Given the description of an element on the screen output the (x, y) to click on. 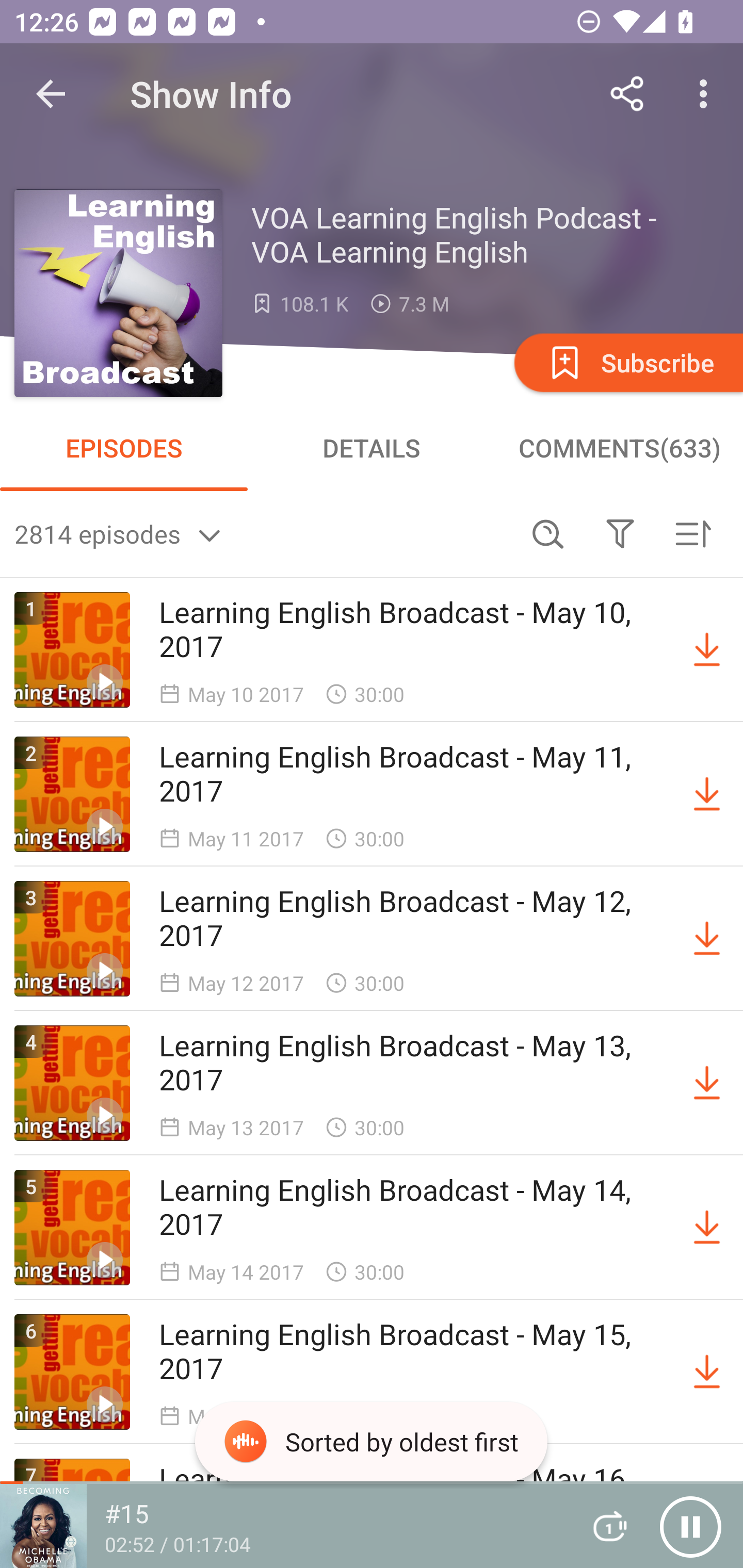
Navigate up (50, 93)
Share (626, 93)
More options (706, 93)
Subscribe (627, 361)
EPISODES (123, 447)
DETAILS (371, 447)
COMMENTS(633) (619, 447)
2814 episodes  (262, 533)
 Search (547, 533)
 (619, 533)
 Sorted by oldest first (692, 533)
Download (706, 649)
Download (706, 793)
Download (706, 939)
Download (706, 1083)
Download (706, 1227)
Download (706, 1371)
#15 02:52 / 01:17:04 (283, 1525)
Pause (690, 1526)
